Given the description of an element on the screen output the (x, y) to click on. 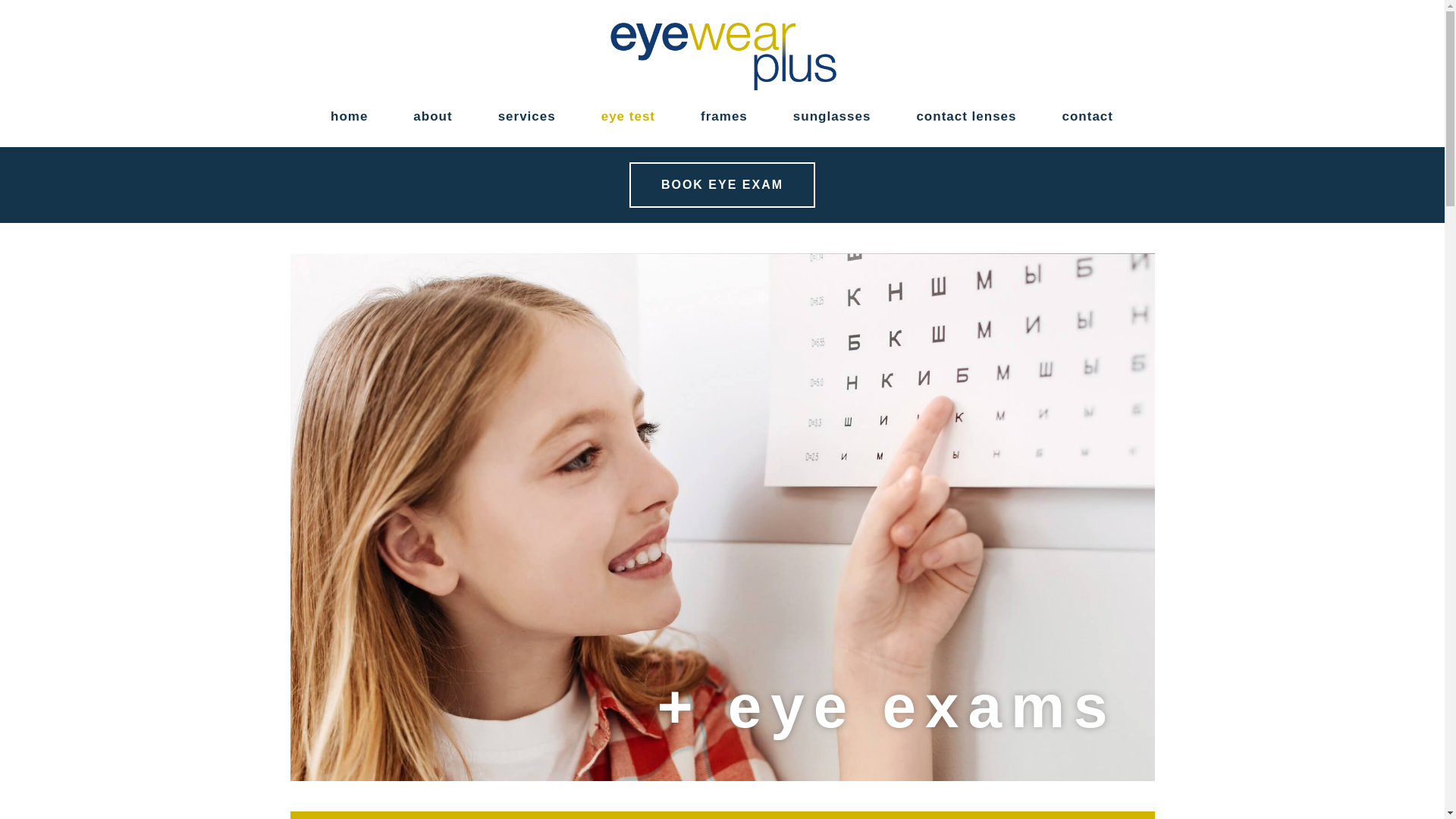
BOOK EYE EXAM Element type: text (722, 184)
contact lenses Element type: text (966, 116)
sunglasses Element type: text (832, 116)
about Element type: text (432, 116)
services Element type: text (526, 116)
frames Element type: text (723, 116)
home Element type: text (348, 116)
eye test Element type: text (628, 116)
contact Element type: text (1087, 116)
